Given the description of an element on the screen output the (x, y) to click on. 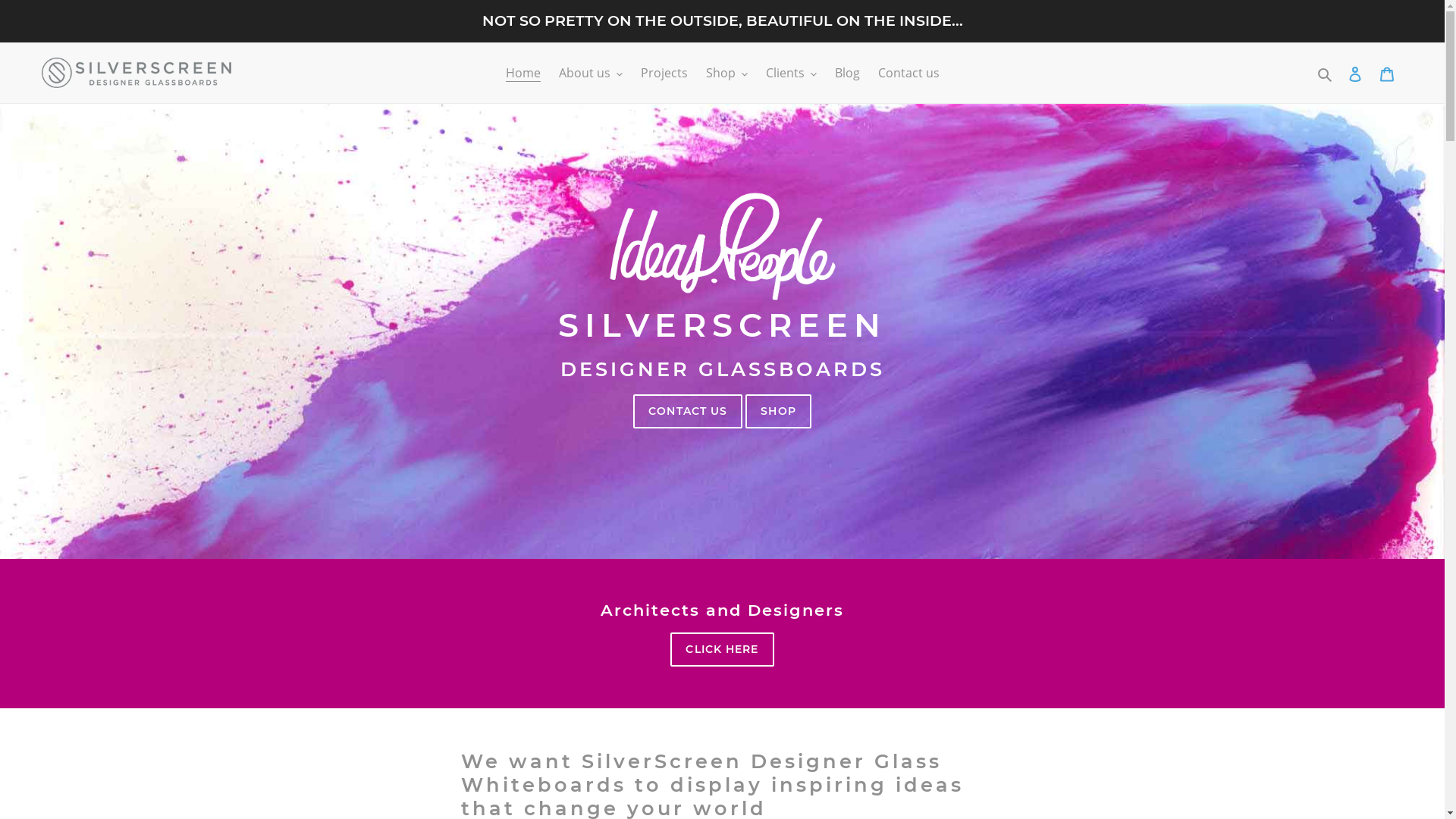
About us Element type: text (589, 72)
CONTACT US Element type: text (687, 411)
Search Element type: text (1325, 72)
Clients Element type: text (791, 72)
Cart Element type: text (1386, 72)
SHOP Element type: text (777, 411)
Home Element type: text (522, 72)
Shop Element type: text (725, 72)
Projects Element type: text (663, 72)
Blog Element type: text (846, 72)
Log in Element type: text (1355, 72)
Contact us Element type: text (908, 72)
NOT SO PRETTY ON THE OUTSIDE, BEAUTIFUL ON THE INSIDE... Element type: text (722, 20)
CLICK HERE Element type: text (721, 649)
